Given the description of an element on the screen output the (x, y) to click on. 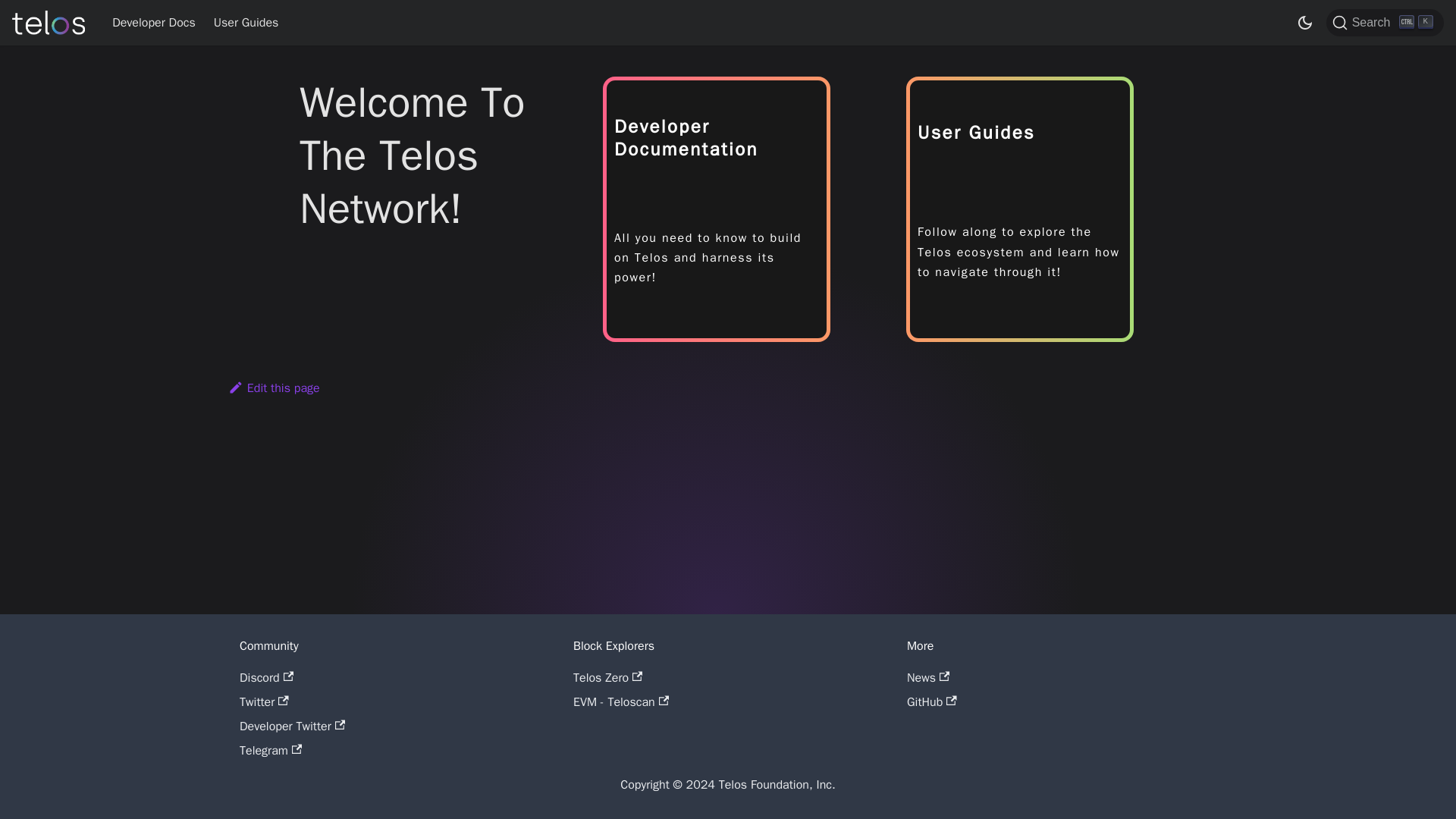
GitHub (931, 702)
Discord (267, 677)
News (928, 677)
Telos Zero (607, 677)
Telegram (270, 750)
EVM - Teloscan (620, 702)
Twitter (264, 702)
Developer Twitter (292, 726)
Developer Docs (154, 22)
Edit this page (274, 387)
